Given the description of an element on the screen output the (x, y) to click on. 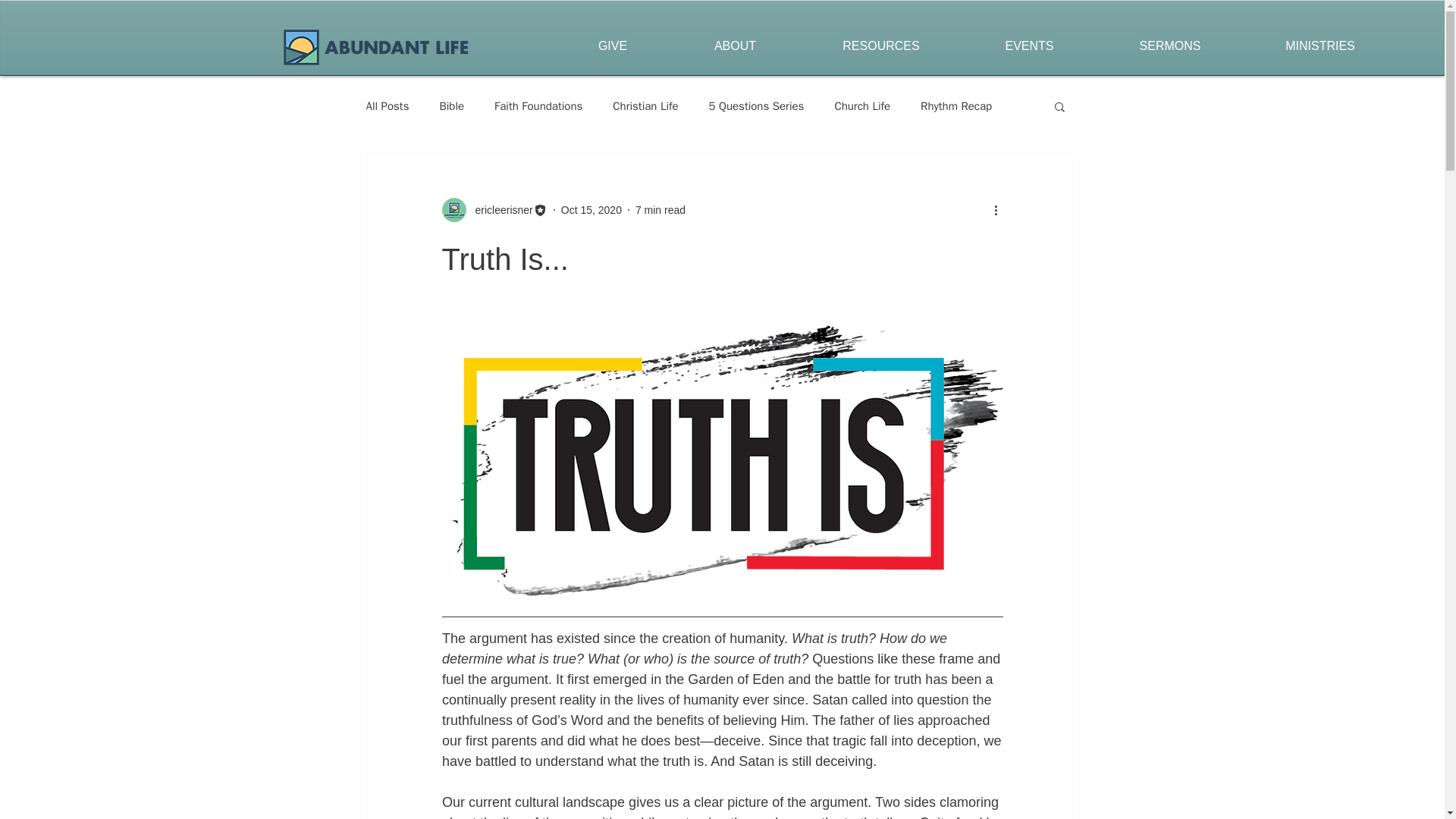
5 Questions Series (757, 105)
Church Life (861, 105)
ABOUT (734, 45)
7 min read (659, 209)
Oct 15, 2020 (590, 209)
Faith Foundations (538, 105)
GIVE (611, 45)
Christian Life (645, 105)
Rhythm Recap (955, 105)
RESOURCES (880, 45)
All Posts (387, 105)
MINISTRIES (1319, 45)
SERMONS (1169, 45)
Bible (451, 105)
ericleerisner (498, 209)
